Given the description of an element on the screen output the (x, y) to click on. 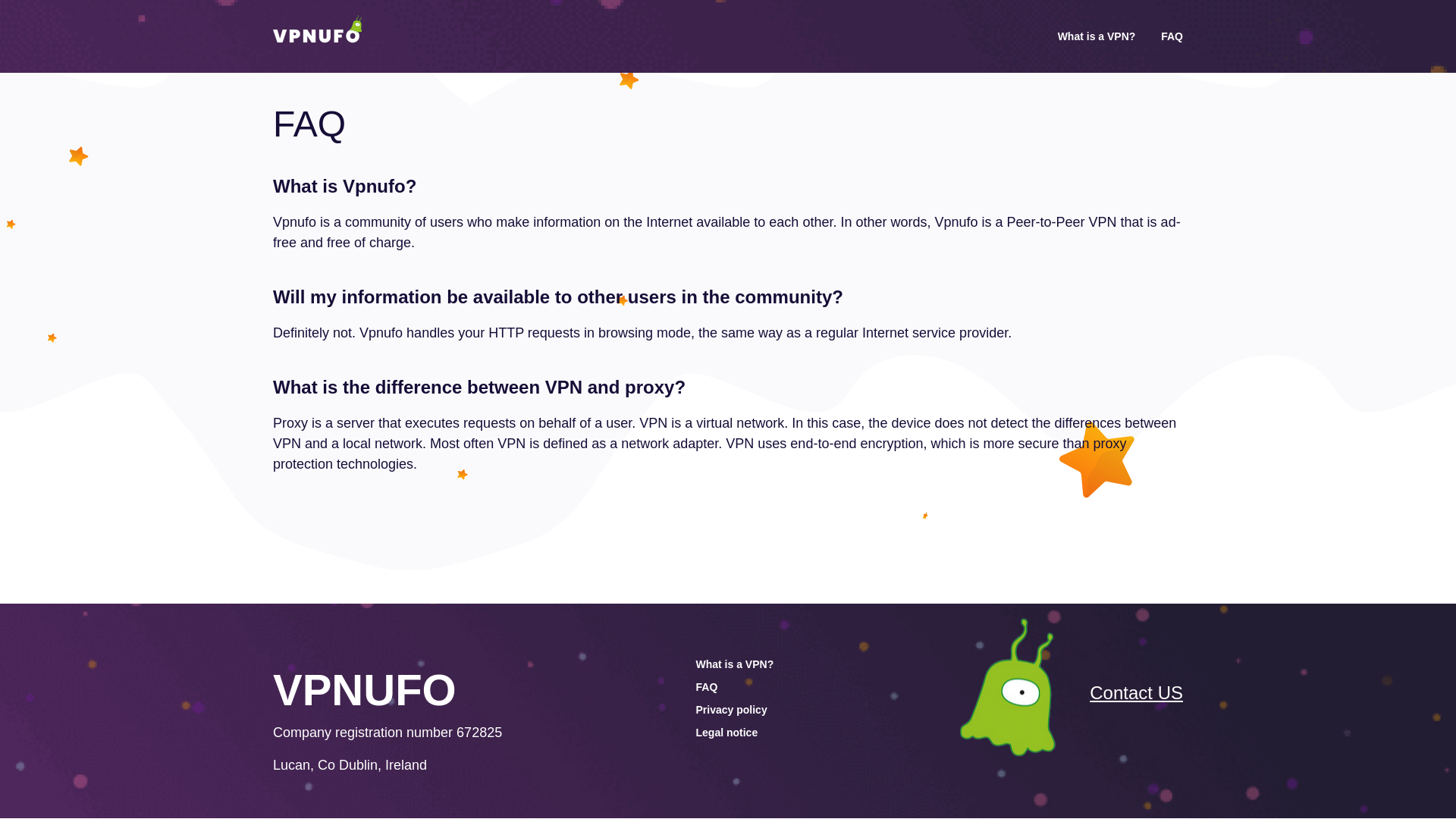
VPNUFO (365, 689)
FAQ (706, 686)
Privacy policy (731, 709)
What is a VPN? (734, 664)
What is a VPN? (1096, 36)
FAQ (1171, 36)
Legal notice (726, 732)
Contact US (1135, 692)
